Given the description of an element on the screen output the (x, y) to click on. 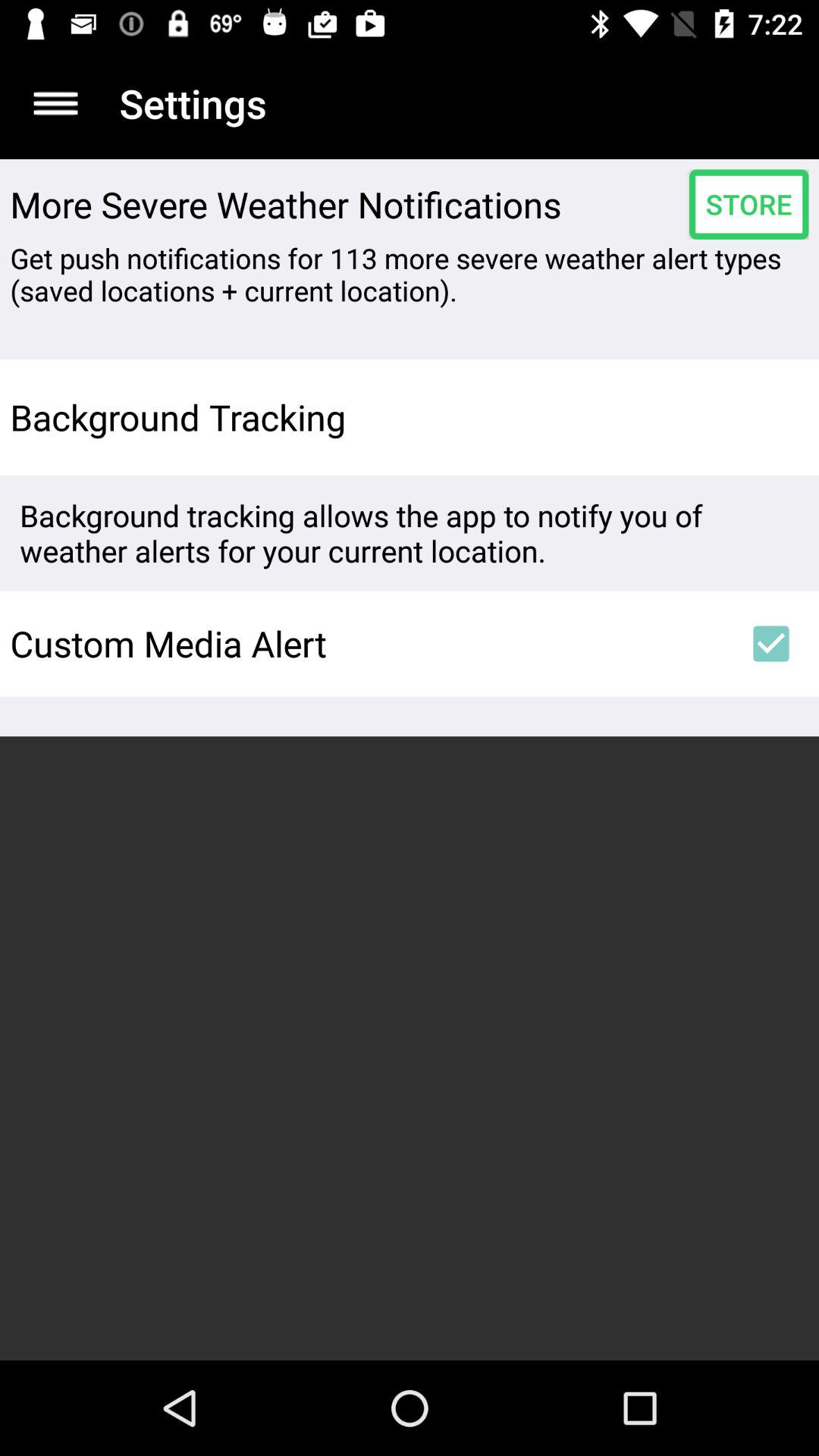
turn off item next to background tracking (771, 417)
